Given the description of an element on the screen output the (x, y) to click on. 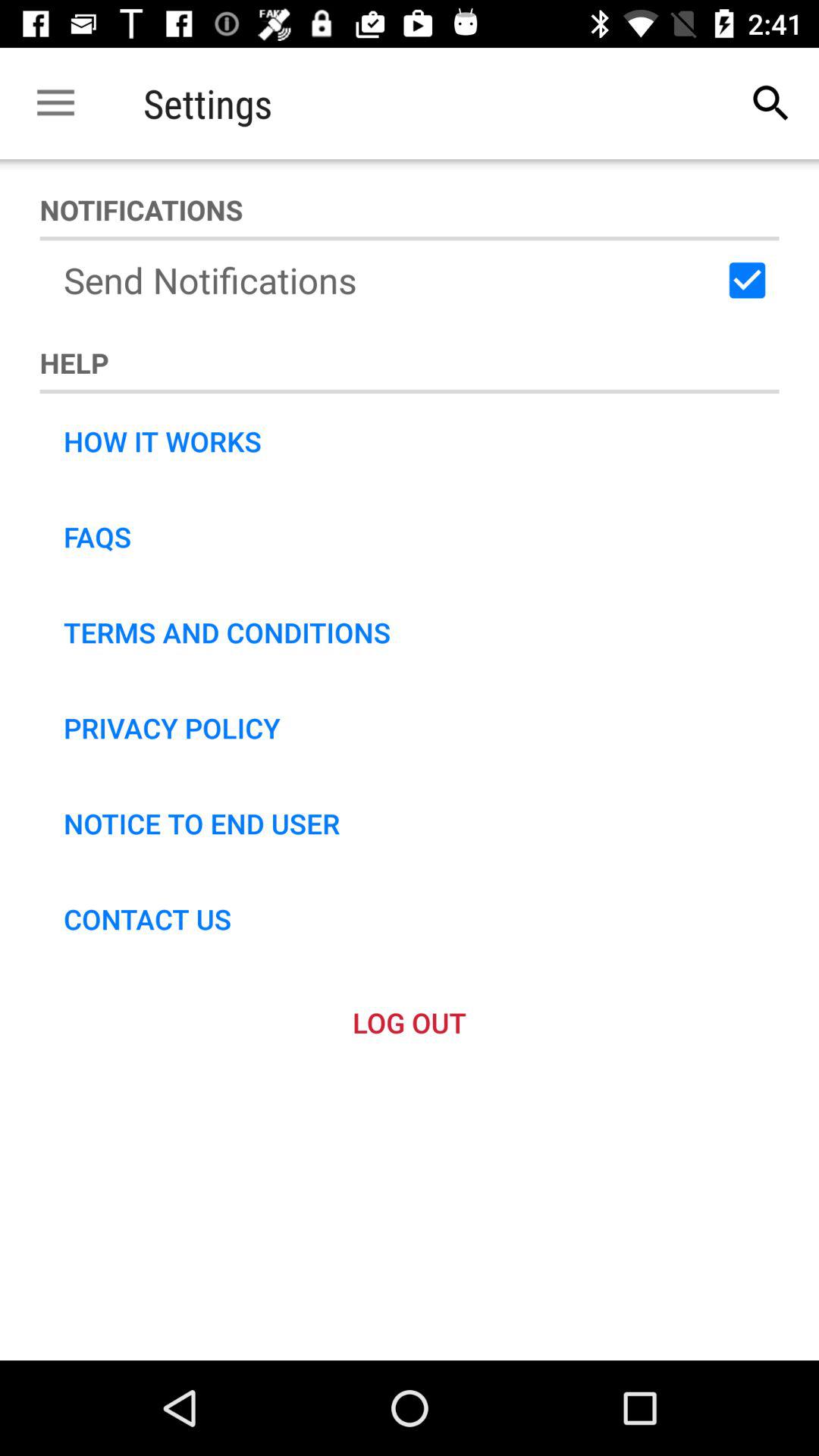
choose item to the right of the send notifications icon (747, 280)
